Given the description of an element on the screen output the (x, y) to click on. 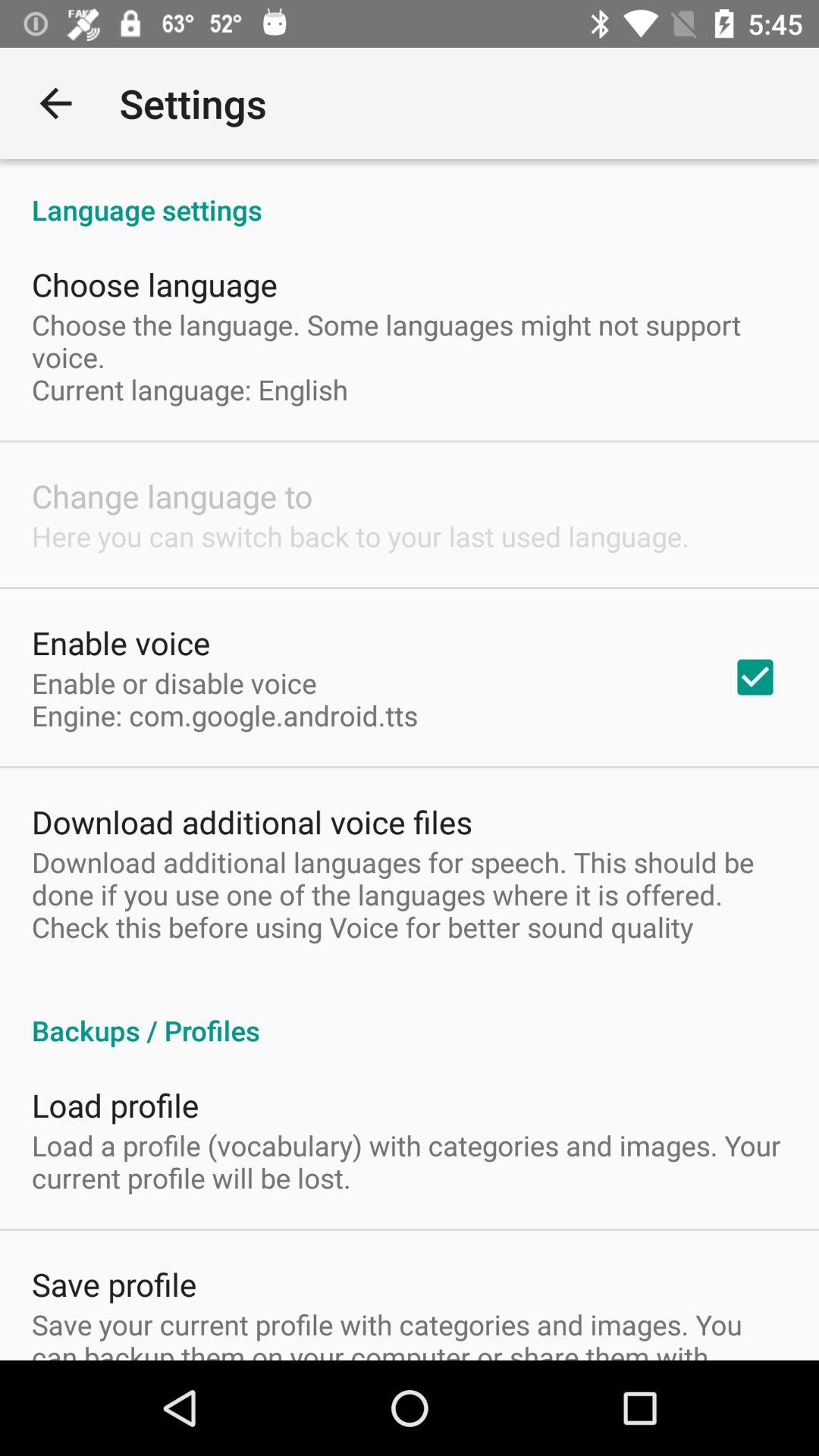
turn on item to the left of settings item (55, 103)
